Given the description of an element on the screen output the (x, y) to click on. 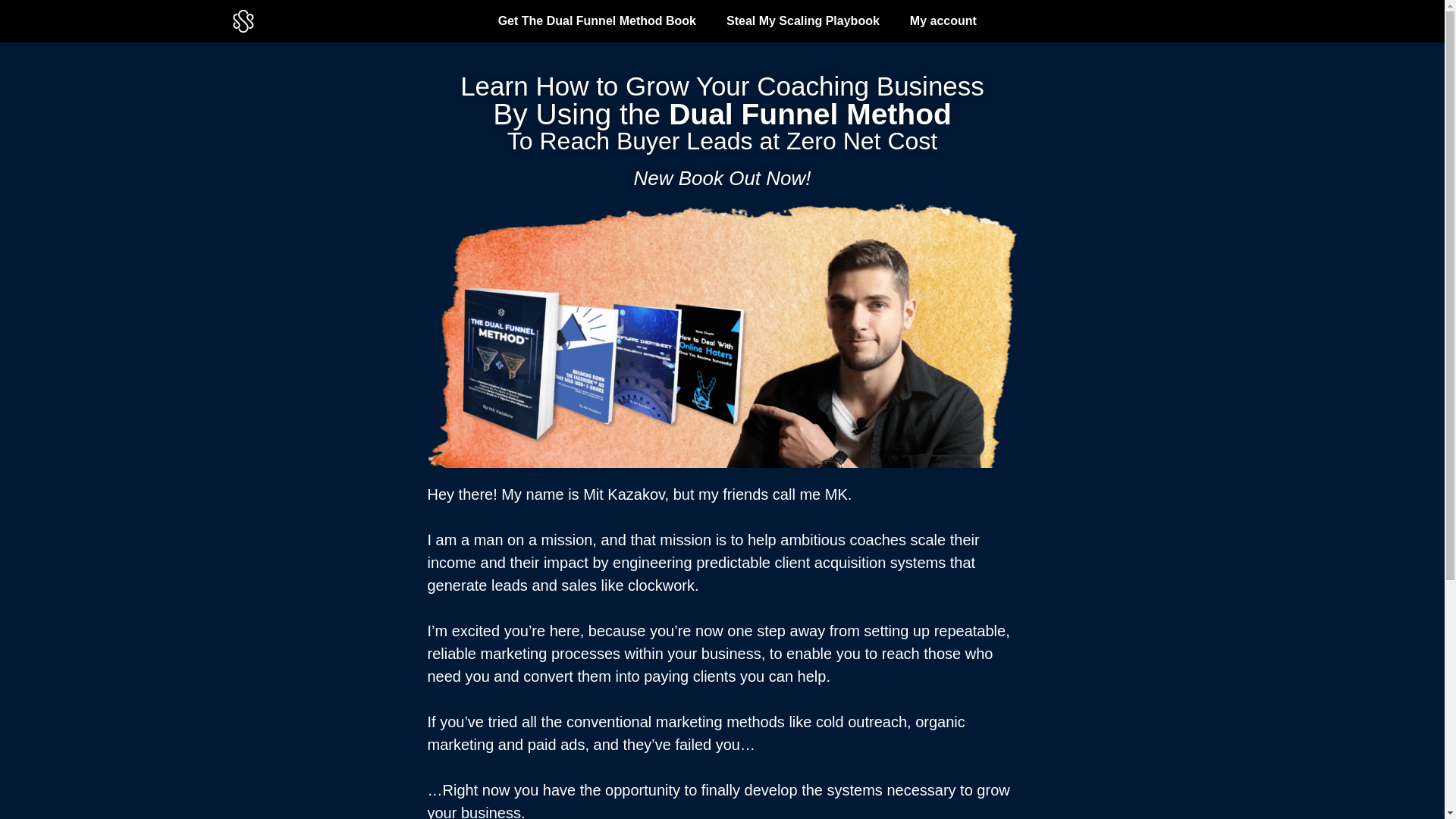
Get The Dual Funnel Method Book (597, 21)
My account (943, 21)
Steal My Scaling Playbook (803, 21)
